Given the description of an element on the screen output the (x, y) to click on. 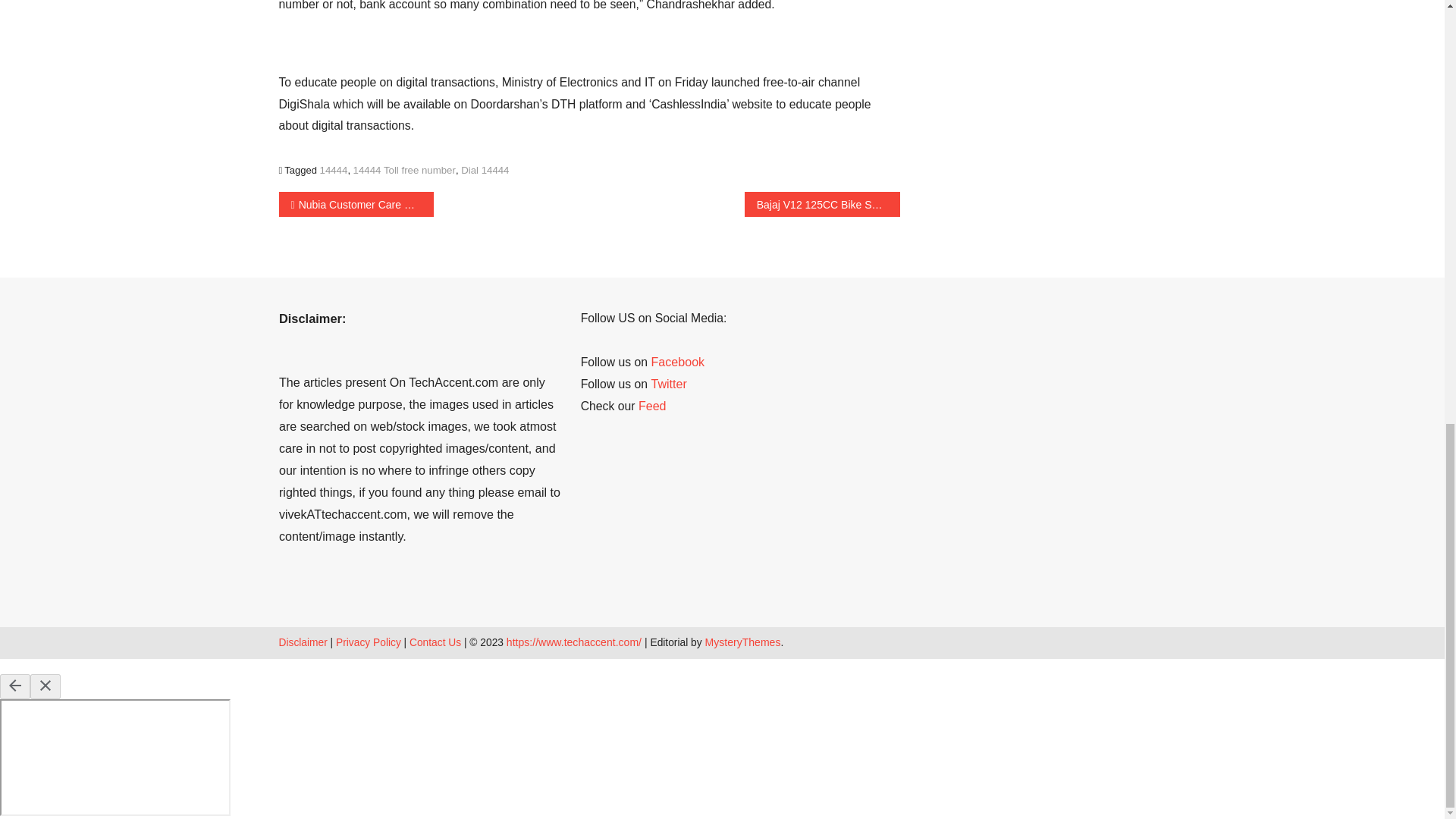
Bajaj V12 125CC Bike Specifications Price Review Mileage (821, 204)
Nubia Customer Care Number Toll Free Number (356, 204)
Dial 14444 (484, 170)
14444 Toll free number (404, 170)
14444 (333, 170)
